Given the description of an element on the screen output the (x, y) to click on. 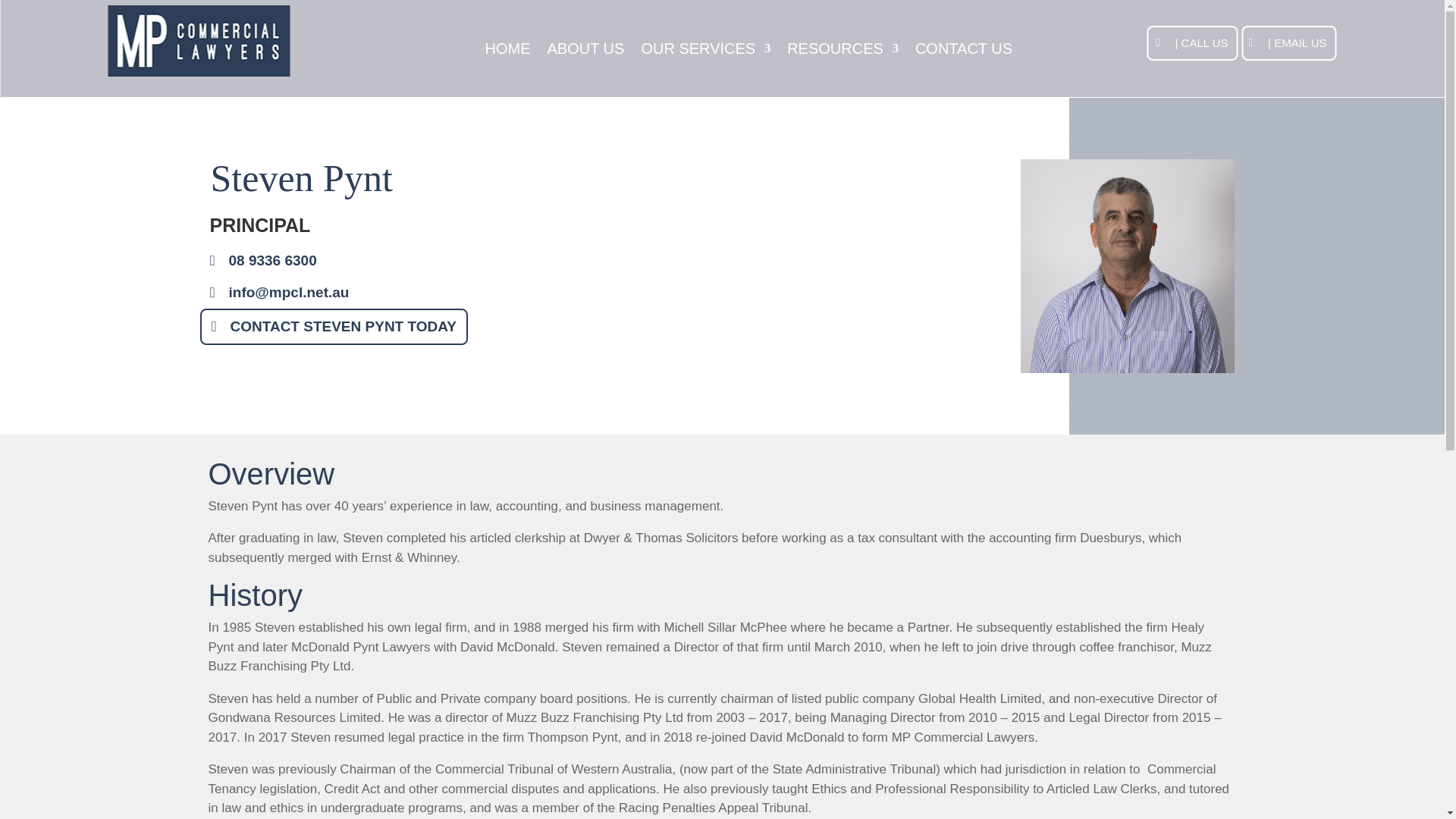
ABOUT US (585, 51)
RESOURCES (842, 51)
CONTACT US (963, 51)
MPCL - Small (198, 40)
OUR SERVICES (705, 51)
Steve (1127, 265)
HOME (507, 51)
